Given the description of an element on the screen output the (x, y) to click on. 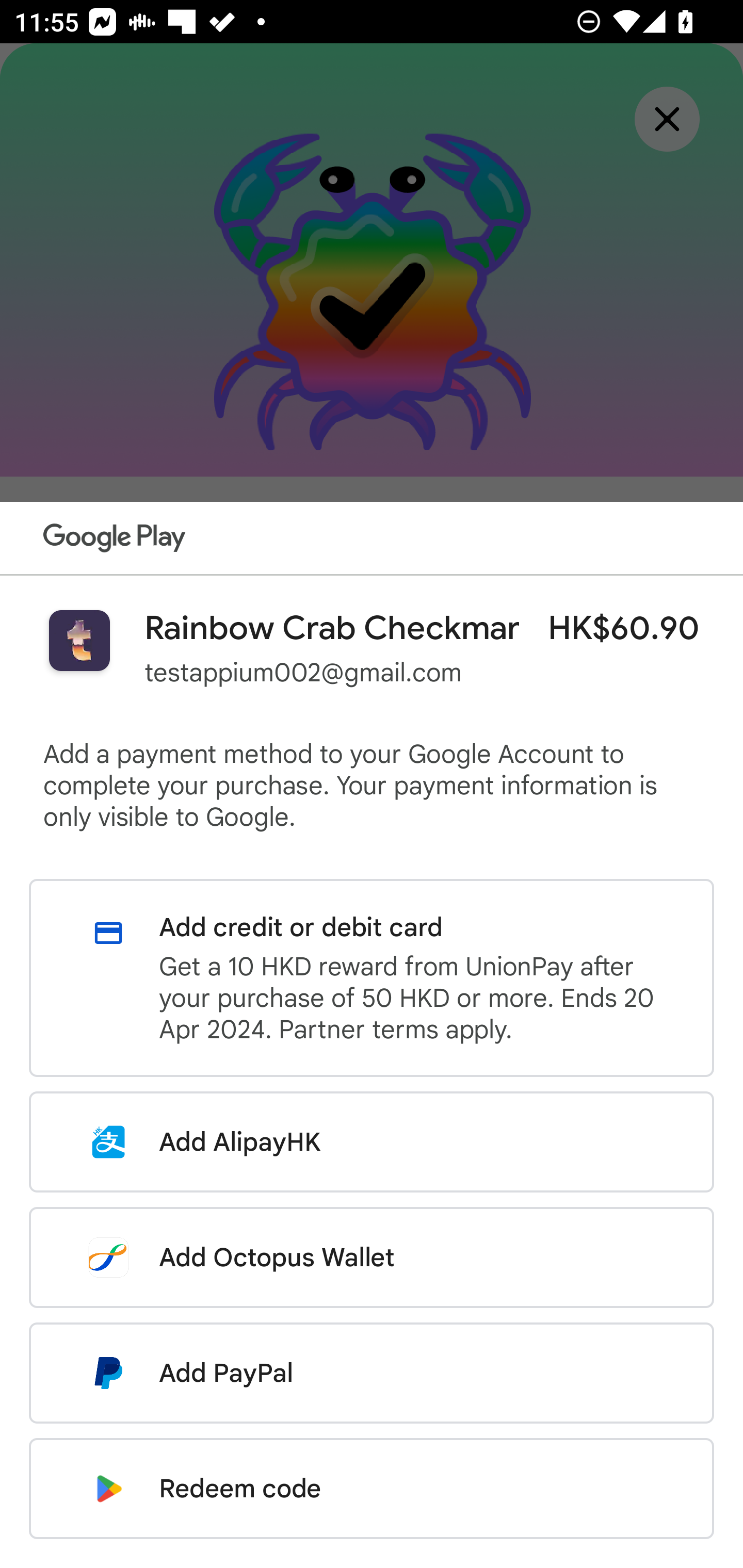
Add AlipayHK (371, 1142)
Add Octopus Wallet (371, 1257)
Add PayPal (371, 1372)
Redeem code (371, 1488)
